Given the description of an element on the screen output the (x, y) to click on. 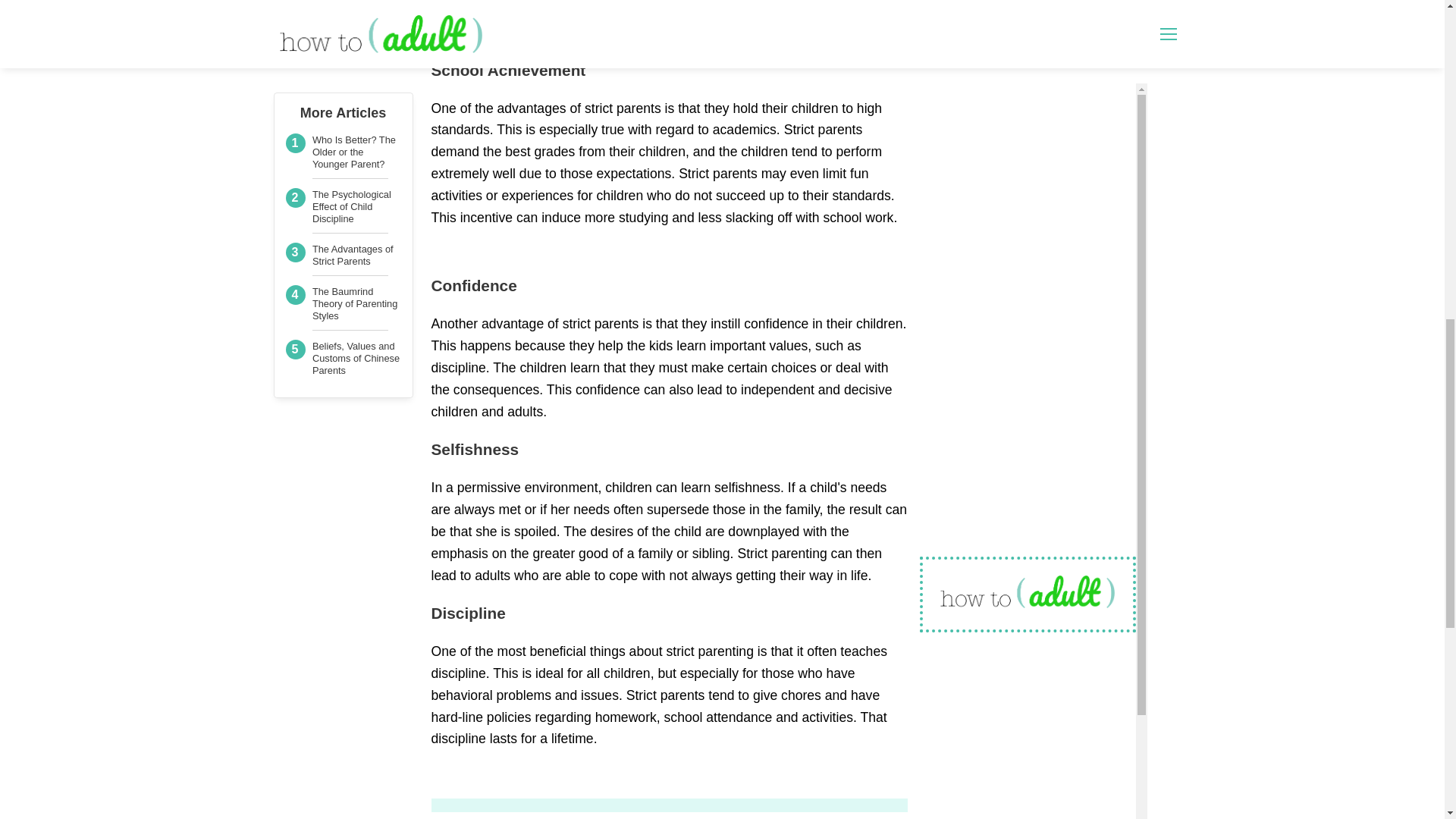
Advertisement (668, 24)
Beliefs, Values and Customs of Chinese Parents (355, 284)
Who Is Better? The Older or the Younger Parent? (354, 77)
The Advantages of Strict Parents (353, 180)
The Baumrind Theory of Parenting Styles (355, 229)
The Psychological Effect of Child Discipline (352, 131)
3rd party ad content (1032, 31)
